Given the description of an element on the screen output the (x, y) to click on. 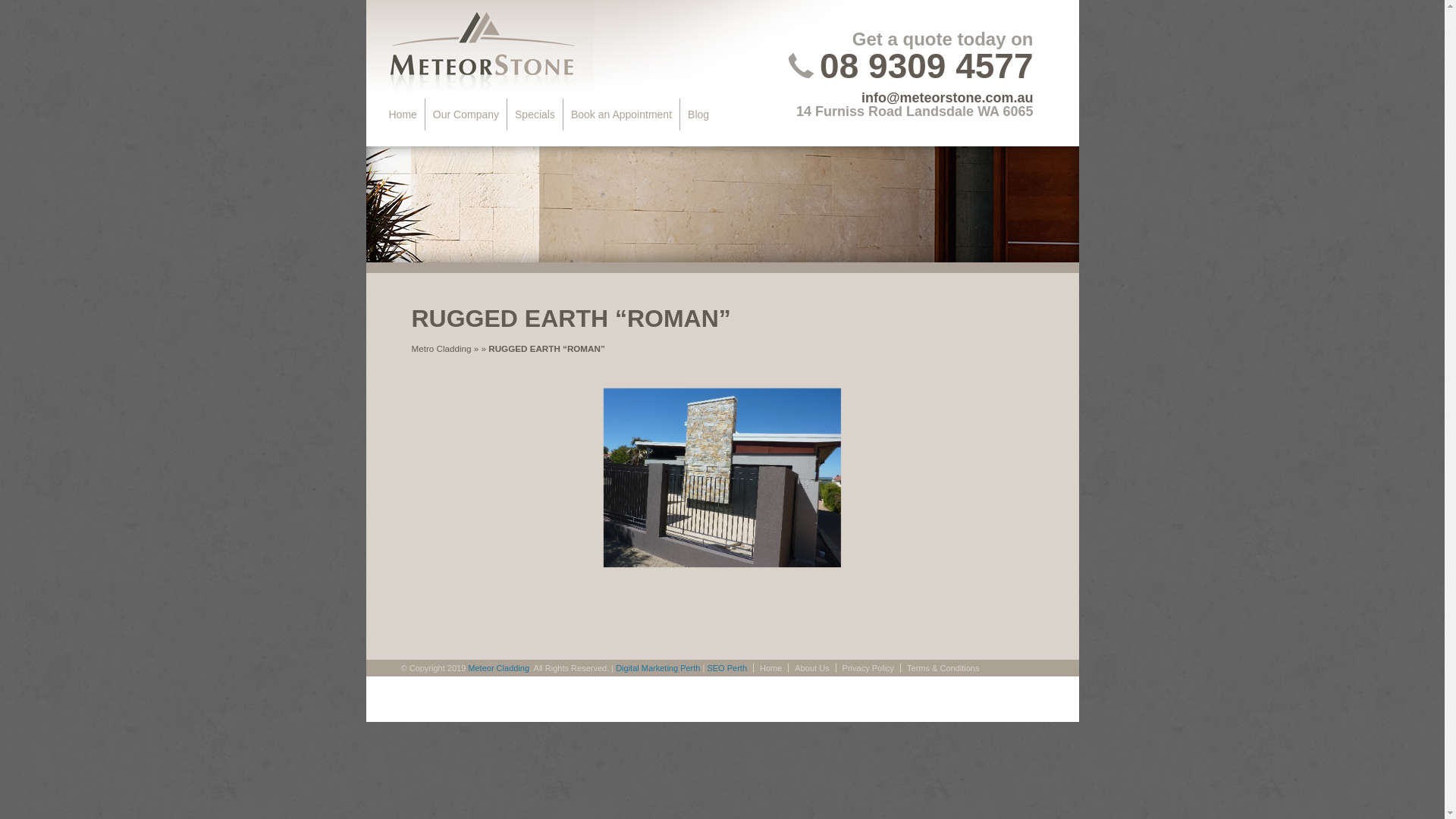
Home Element type: text (402, 114)
Specials Element type: text (535, 114)
Book an Appointment Element type: text (621, 114)
Our Company Element type: text (466, 114)
Home Element type: text (770, 667)
Meteor Cladding Element type: text (479, 48)
Skip to content Element type: text (423, 114)
Blog Element type: text (698, 114)
About Us Element type: text (810, 667)
Terms & Conditions Element type: text (942, 667)
Privacy Policy Element type: text (867, 667)
Meteor Cladding Element type: text (498, 667)
Digital Marketing Perth Element type: text (657, 667)
SEO Perth Element type: text (726, 667)
